Given the description of an element on the screen output the (x, y) to click on. 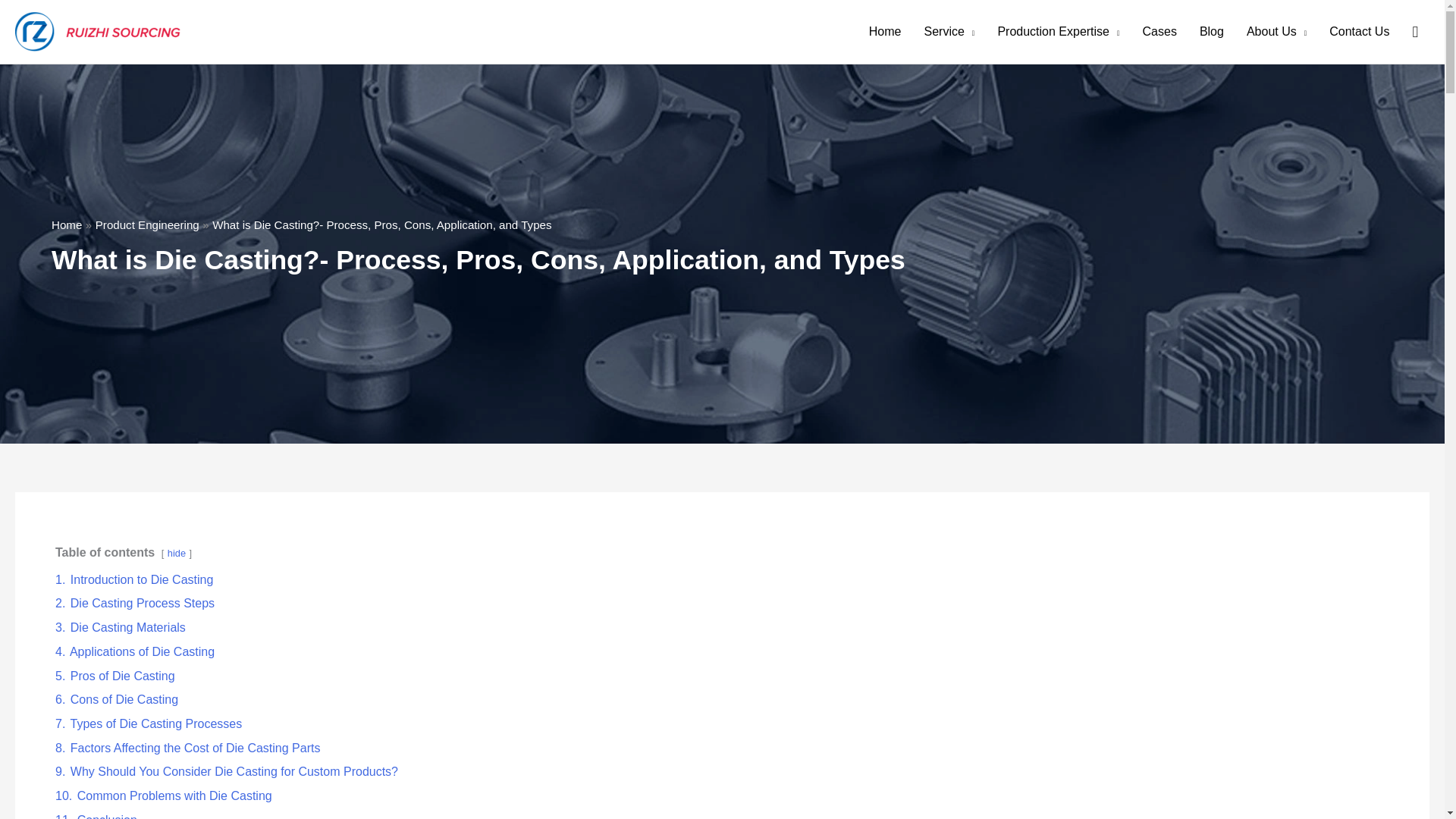
About Us (1275, 31)
6. Cons of Die Casting (116, 698)
1. Introduction to Die Casting (133, 579)
8. Factors Affecting the Cost of Die Casting Parts (187, 748)
Contact Us (1358, 31)
Cases (1159, 31)
Production Expertise (1058, 31)
10. Common Problems with Die Casting (163, 795)
Home (65, 224)
Product Engineering (147, 224)
